Given the description of an element on the screen output the (x, y) to click on. 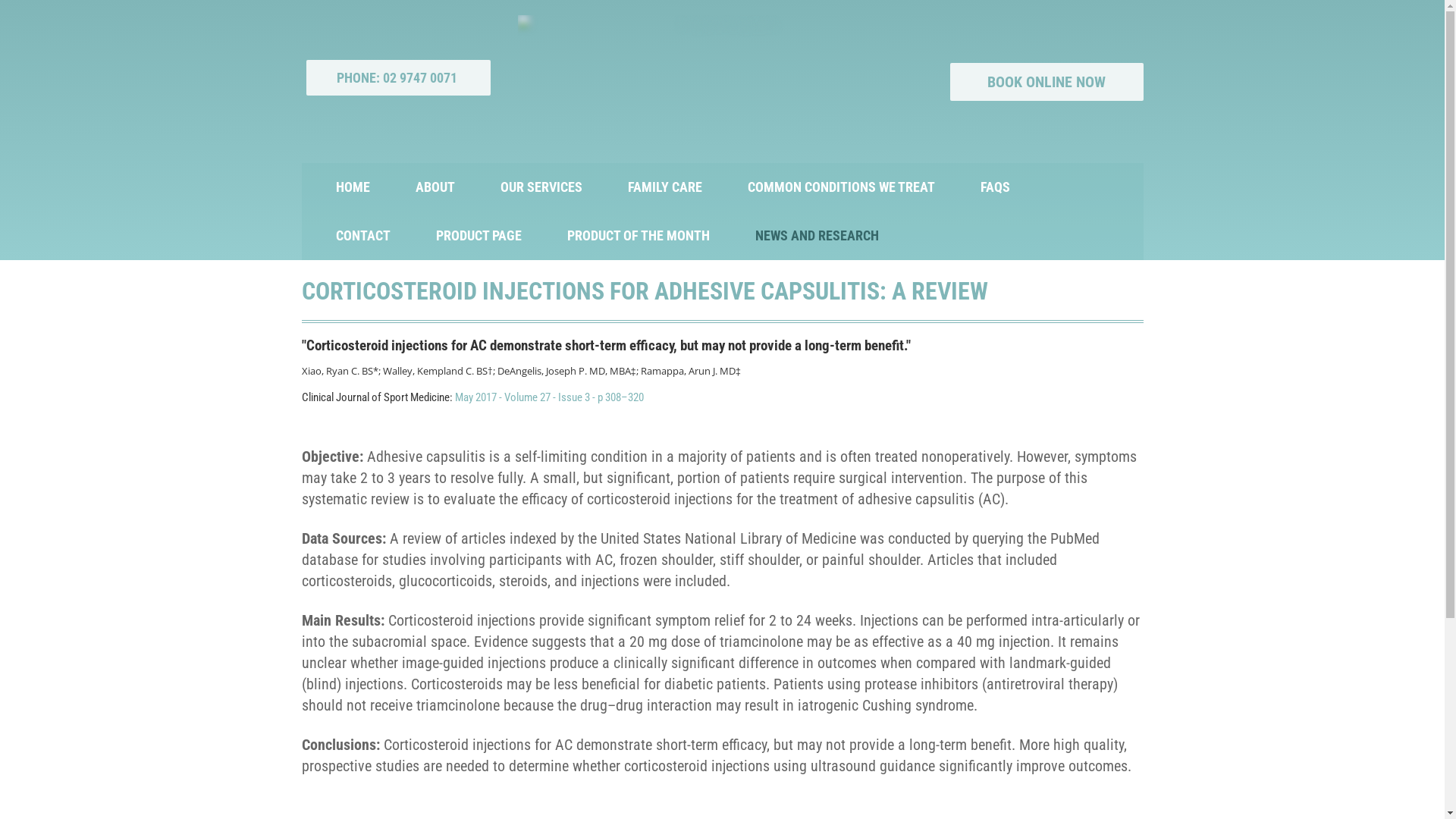
COMMON CONDITIONS WE TREAT Element type: text (840, 187)
OUR SERVICES Element type: text (541, 187)
NEWS AND RESEARCH Element type: text (816, 235)
FAQS Element type: text (994, 187)
PRODUCT OF THE MONTH Element type: text (638, 235)
BOOK ONLINE NOW Element type: text (1046, 81)
CONTACT Element type: text (362, 235)
PHONE: 02 9747 0071  Element type: text (398, 77)
PRODUCT PAGE Element type: text (477, 235)
ABOUT Element type: text (434, 187)
FAMILY CARE Element type: text (664, 187)
HOME Element type: text (352, 187)
